Given the description of an element on the screen output the (x, y) to click on. 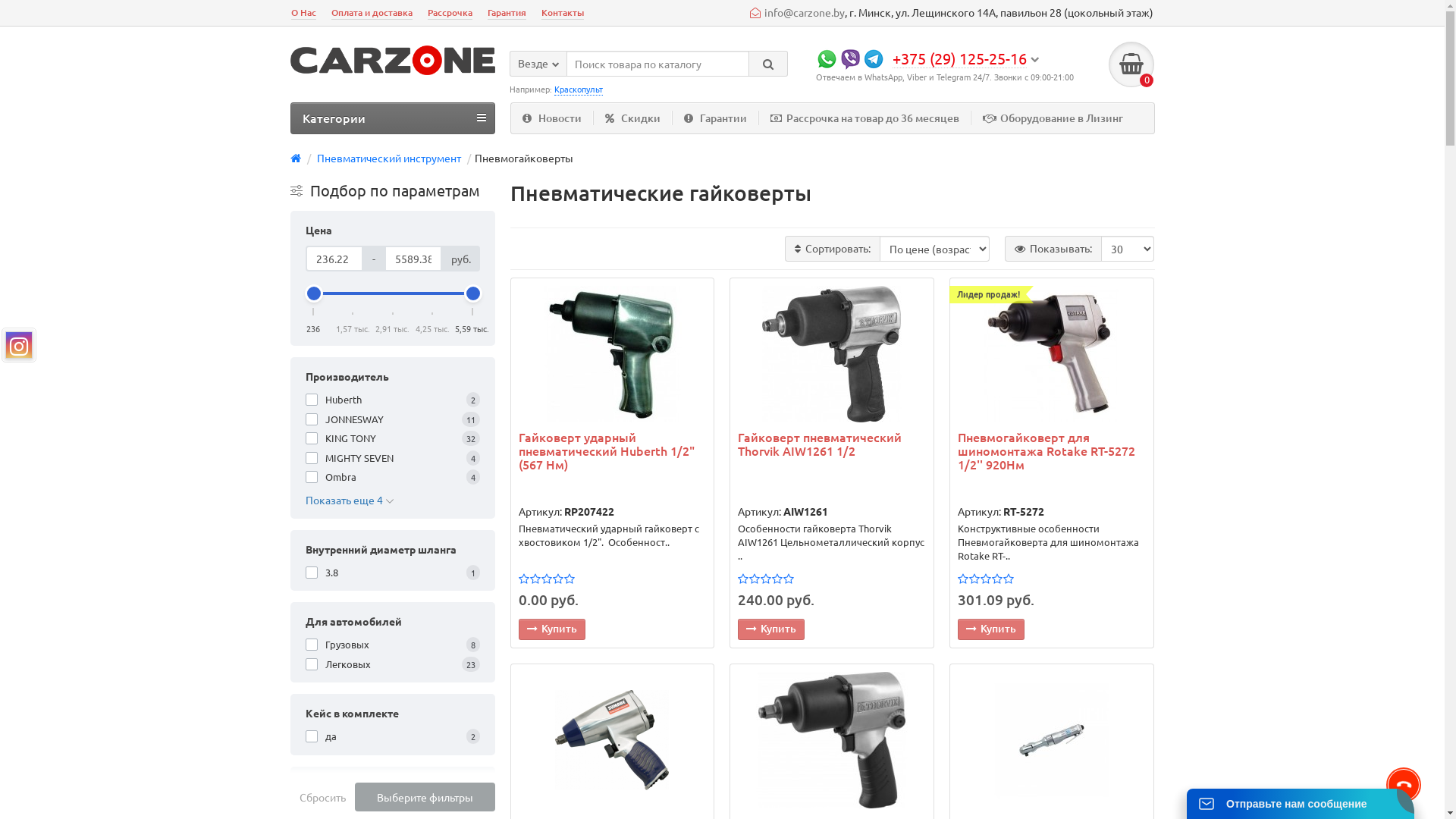
carzone.by Element type: hover (391, 60)
KING TONY
32 Element type: text (391, 437)
MIGHTY SEVEN
4 Element type: text (391, 457)
Ombra
4 Element type: text (391, 476)
Huberth
2 Element type: text (391, 399)
JONNESWAY
11 Element type: text (391, 418)
3.8
1 Element type: text (391, 571)
info@carzone.by Element type: text (796, 11)
0 Element type: text (1131, 64)
